Given the description of an element on the screen output the (x, y) to click on. 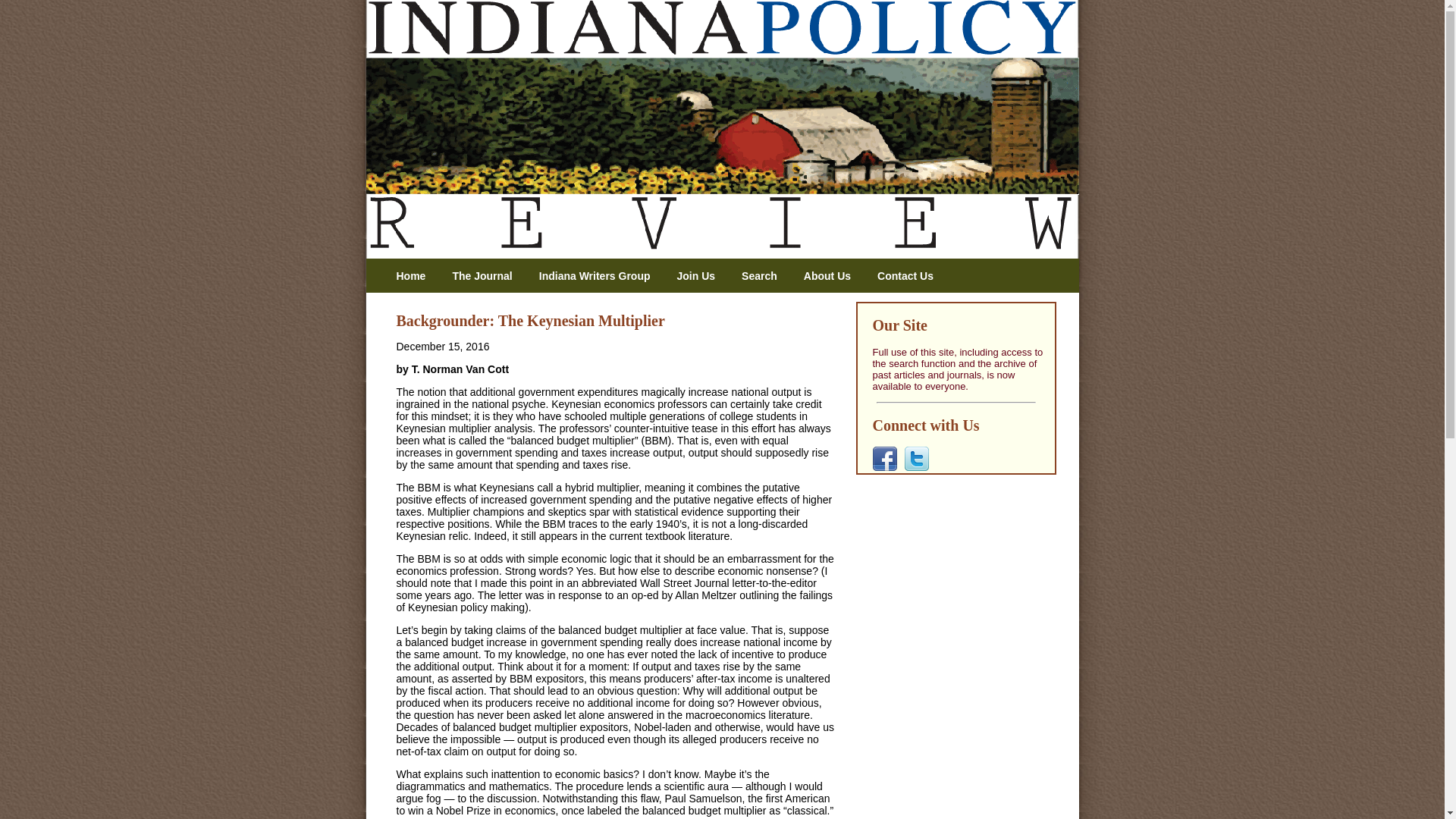
Indiana Writers Group (600, 275)
Home (416, 275)
About Us (832, 275)
Contact Us (910, 275)
Search (765, 275)
Join Us (701, 275)
The Journal (486, 275)
